Given the description of an element on the screen output the (x, y) to click on. 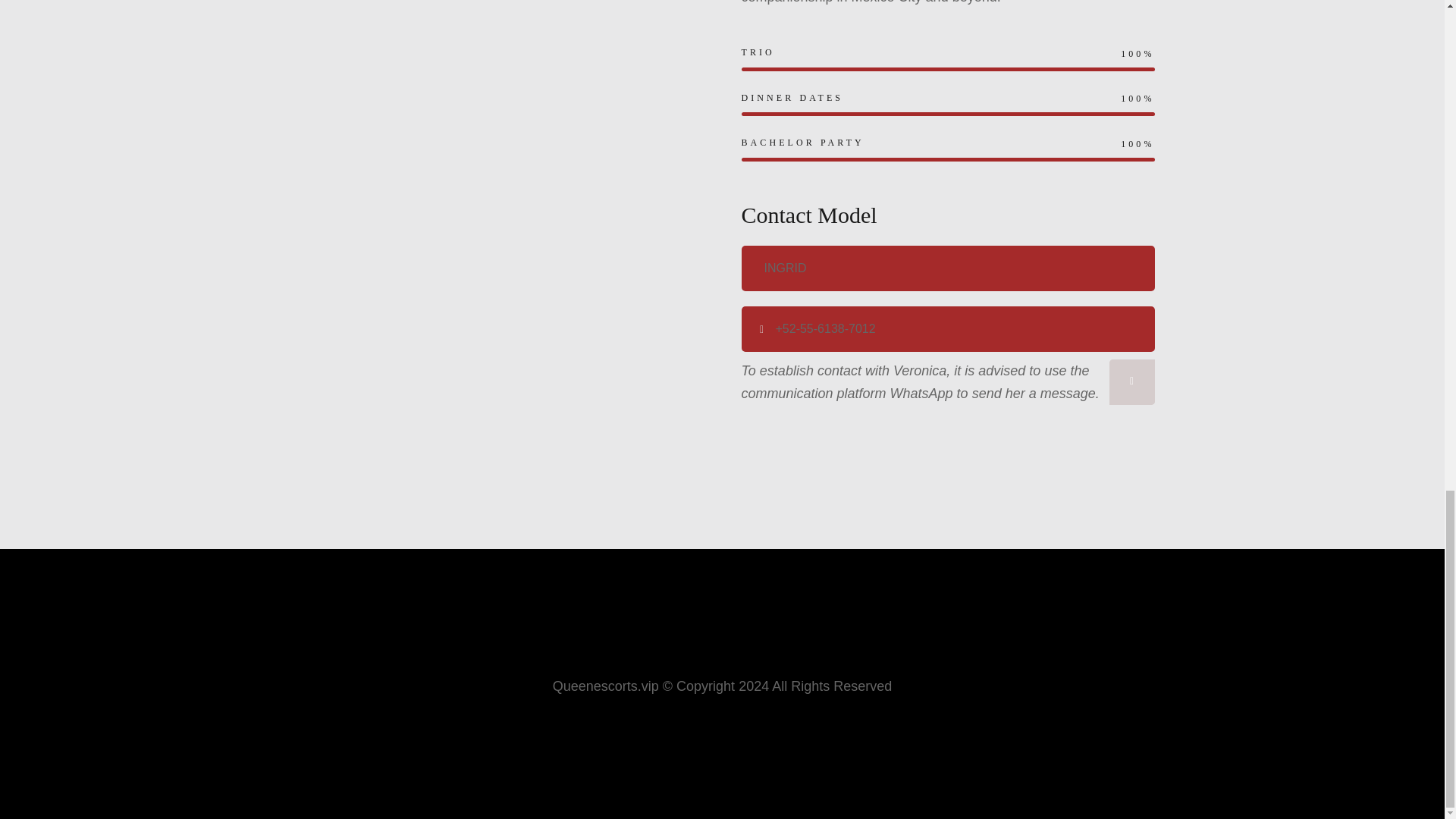
Ingrid (947, 268)
Send (1131, 381)
Send (1131, 381)
